Given the description of an element on the screen output the (x, y) to click on. 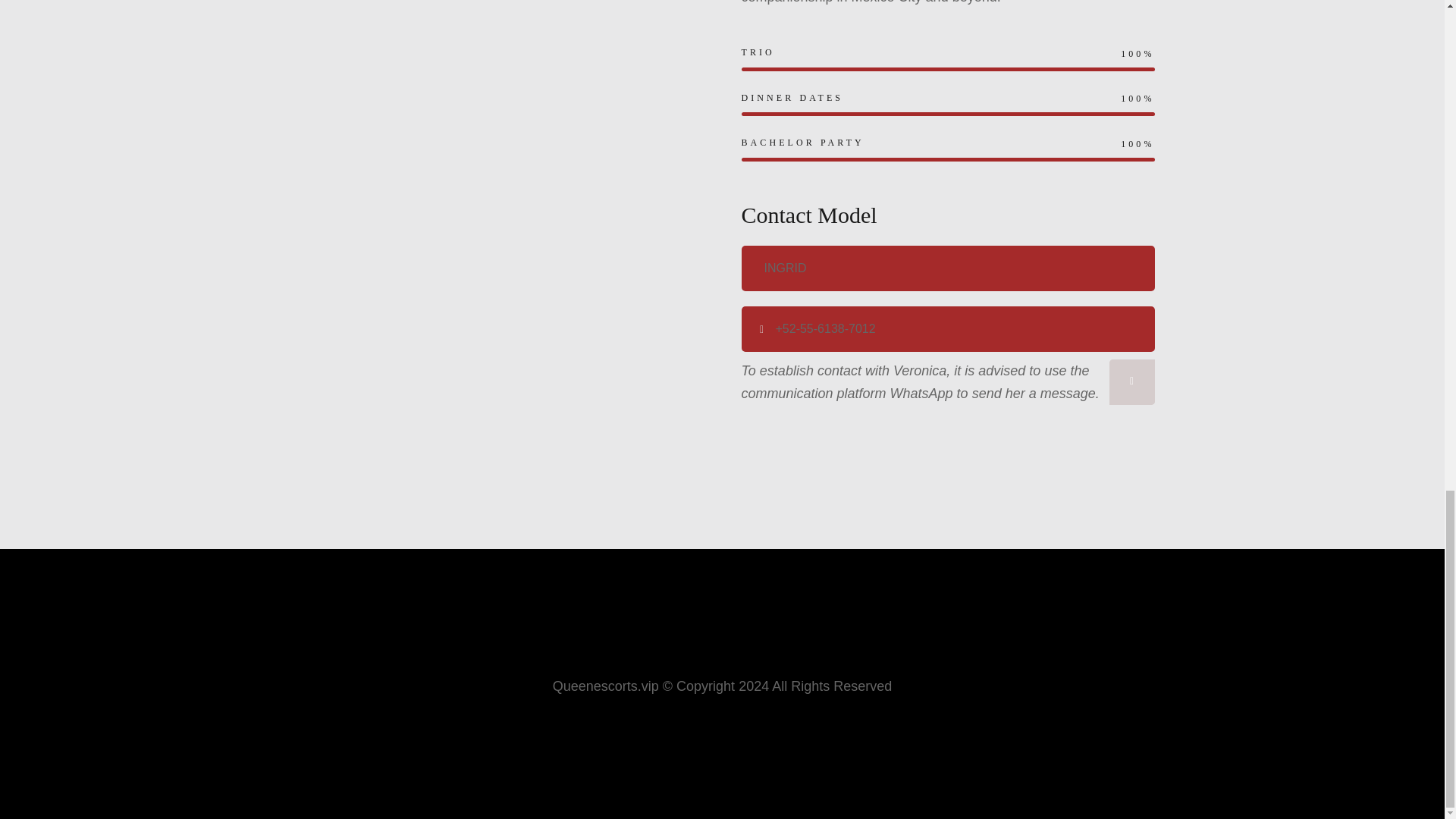
Ingrid (947, 268)
Send (1131, 381)
Send (1131, 381)
